Given the description of an element on the screen output the (x, y) to click on. 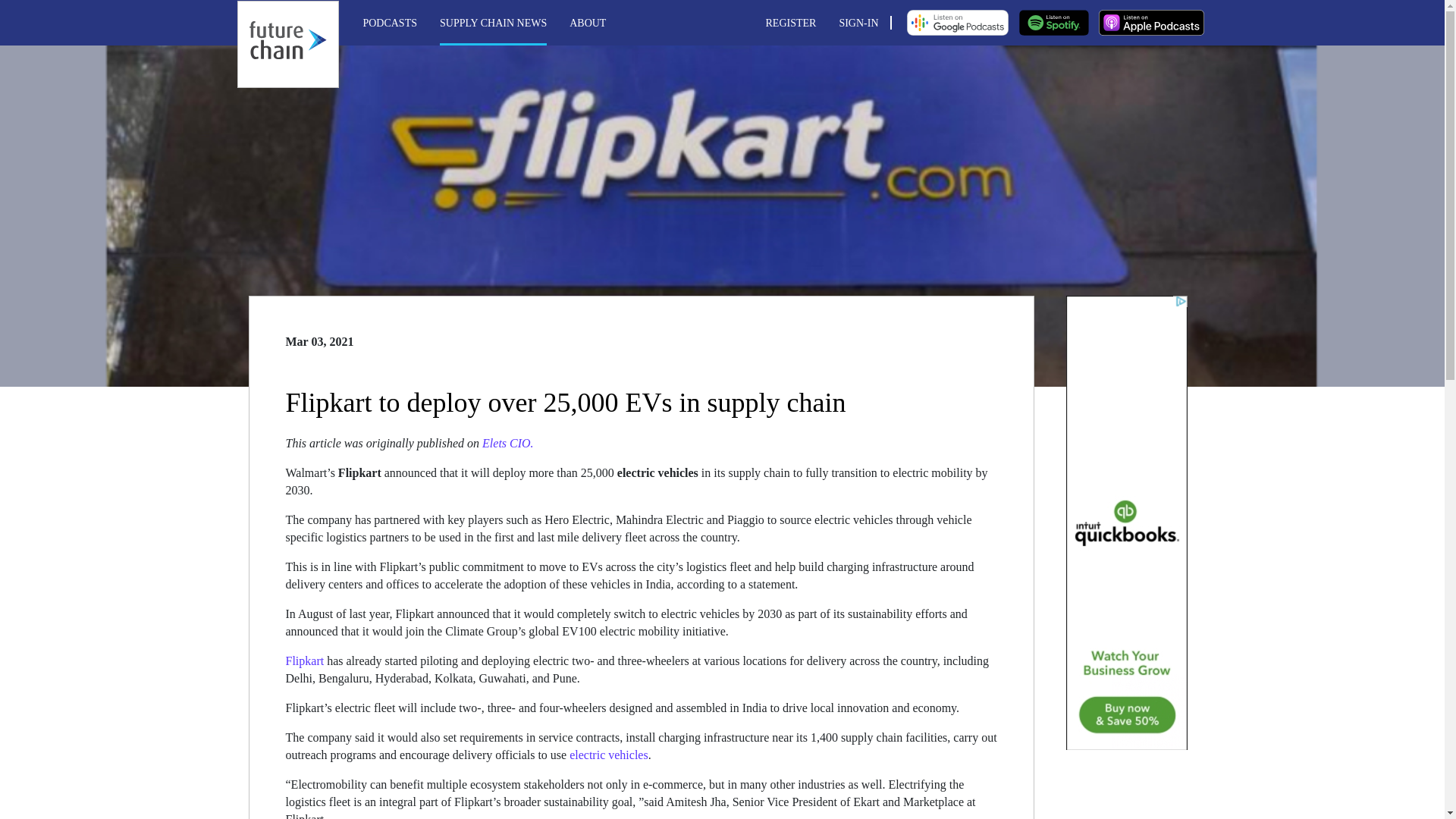
SIGN-IN (857, 21)
REGISTER (790, 21)
ABOUT (587, 21)
Flipkart (304, 660)
PODCASTS (389, 21)
electric vehicles (608, 754)
ABOUT (587, 21)
Elets CIO. (507, 442)
SUPPLY CHAIN NEWS (493, 21)
PODCASTS (389, 21)
SUPPLY CHAIN NEWS (493, 21)
SIGN-IN (857, 21)
REGISTER (790, 21)
